Given the description of an element on the screen output the (x, y) to click on. 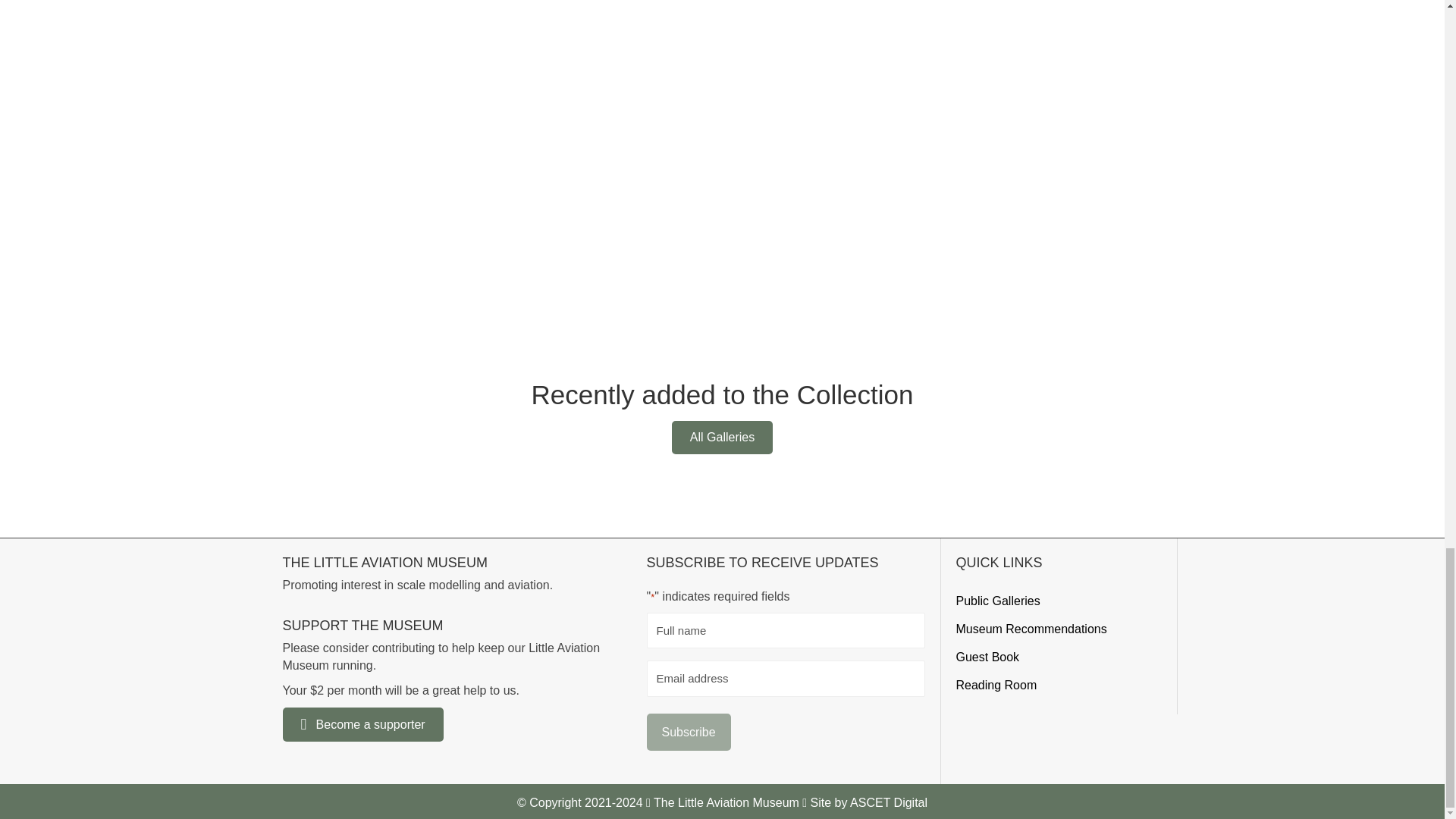
Subscribe (688, 732)
